Given the description of an element on the screen output the (x, y) to click on. 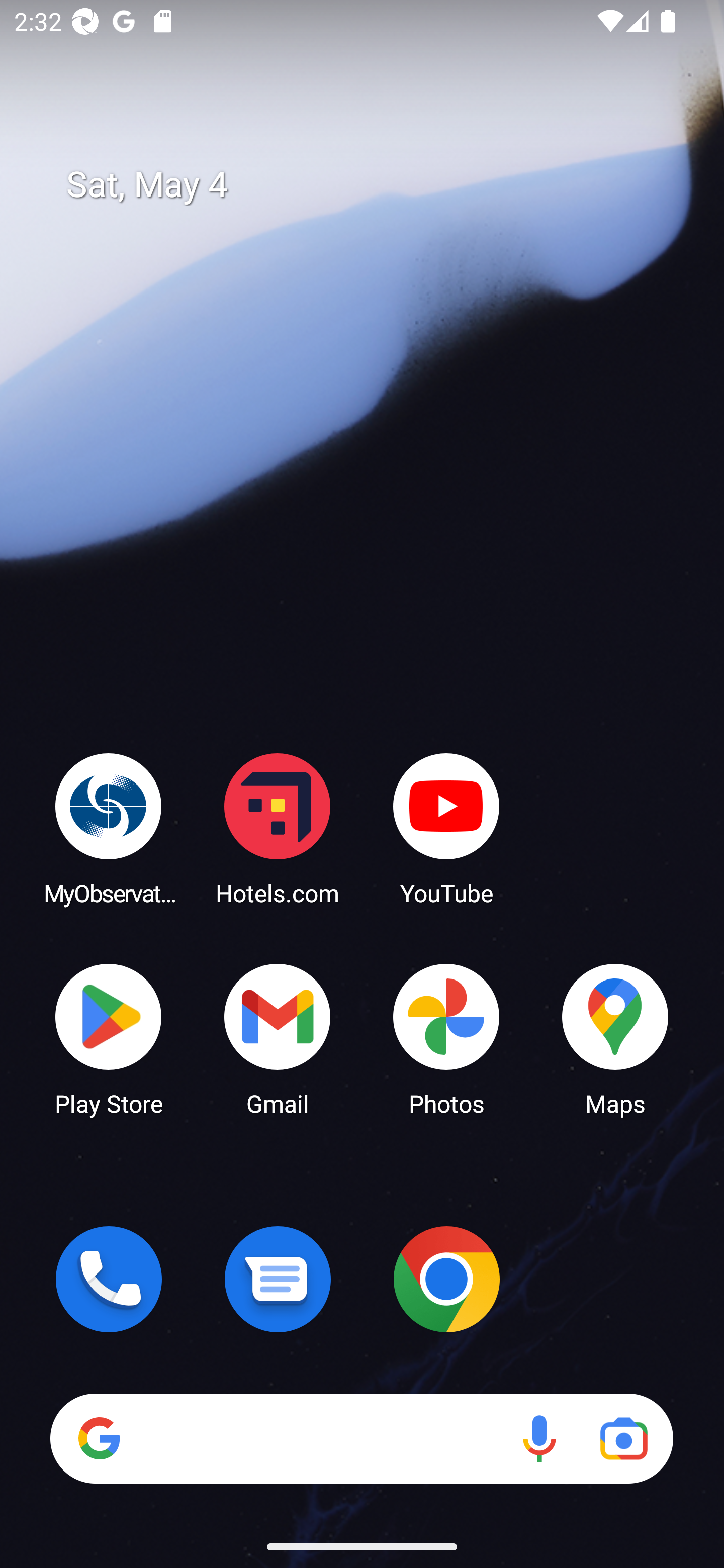
Sat, May 4 (375, 184)
MyObservatory (108, 828)
Hotels.com (277, 828)
YouTube (445, 828)
Play Store (108, 1038)
Gmail (277, 1038)
Photos (445, 1038)
Maps (615, 1038)
Phone (108, 1279)
Messages (277, 1279)
Chrome (446, 1279)
Search Voice search Google Lens (361, 1438)
Voice search (539, 1438)
Google Lens (623, 1438)
